Given the description of an element on the screen output the (x, y) to click on. 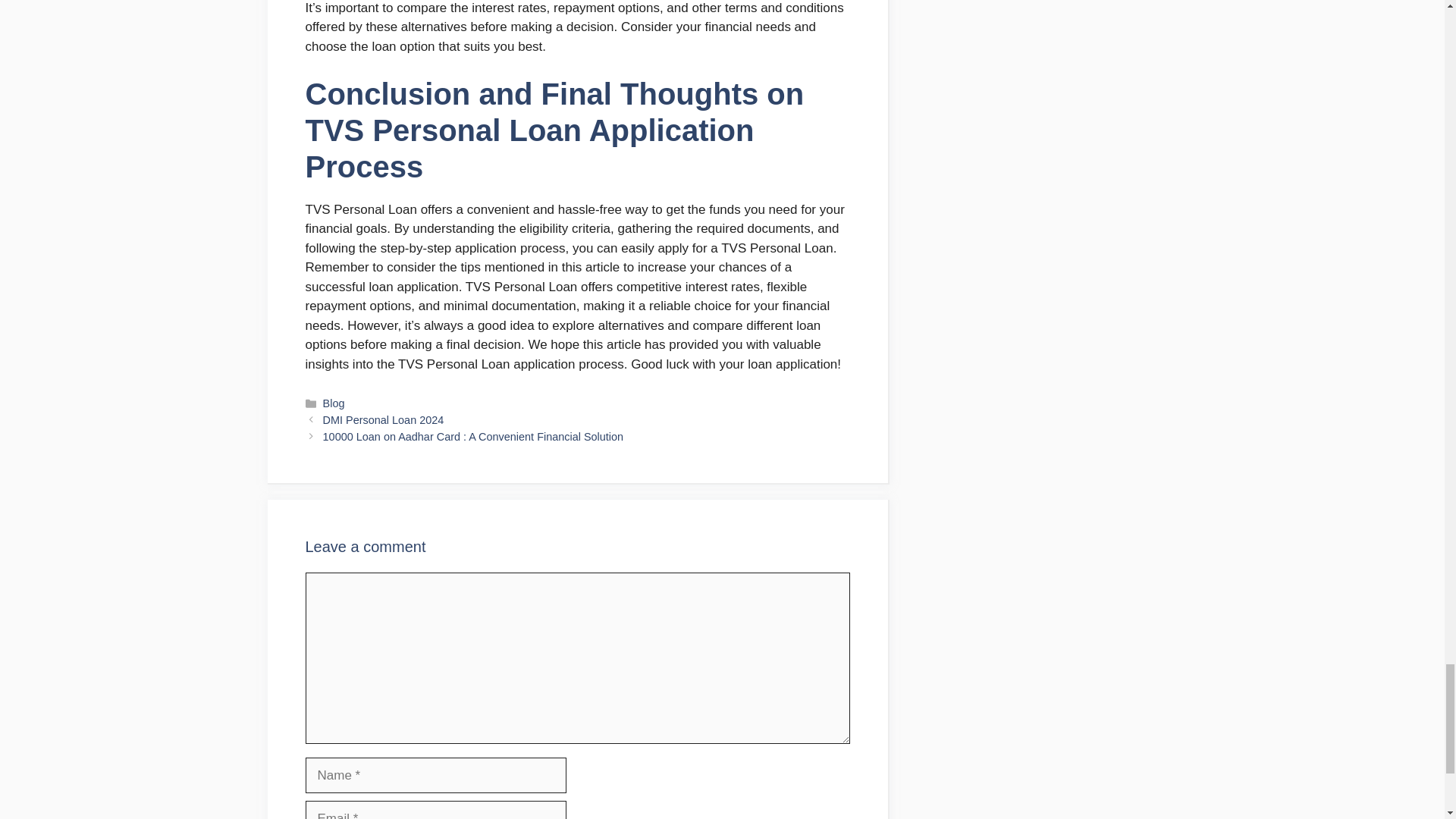
10000 Loan on Aadhar Card : A Convenient Financial Solution (473, 436)
DMI Personal Loan 2024 (383, 419)
Blog (334, 403)
